Given the description of an element on the screen output the (x, y) to click on. 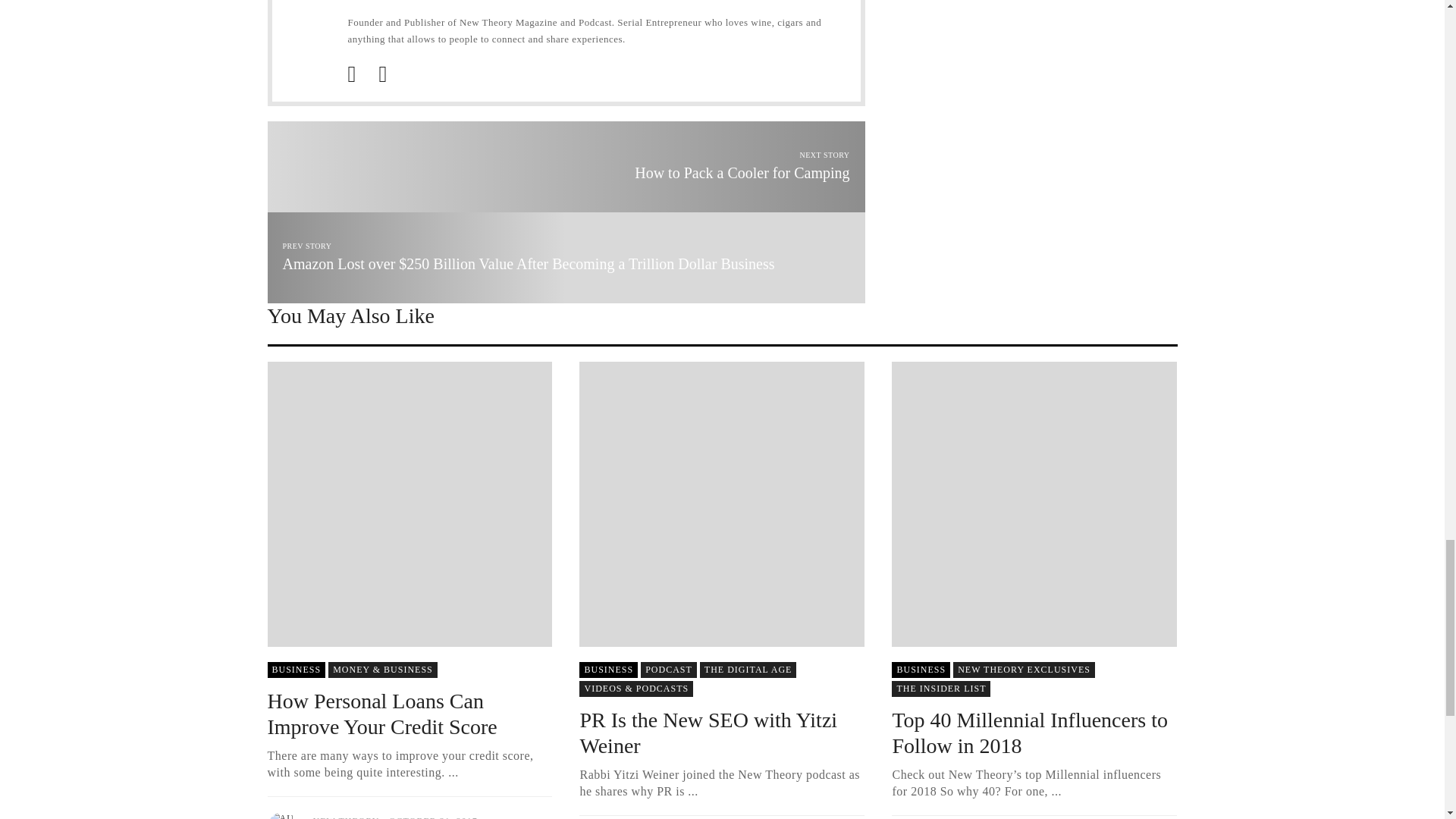
View all posts in 923 (1023, 669)
View all posts in 144 (383, 669)
View all posts in 3845 (920, 669)
View all posts in 922 (636, 688)
View all posts in 3847 (668, 669)
View all posts in 152 (748, 669)
View all posts in 3845 (608, 669)
View all posts in 3845 (295, 669)
View all posts in 3034 (940, 688)
